Given the description of an element on the screen output the (x, y) to click on. 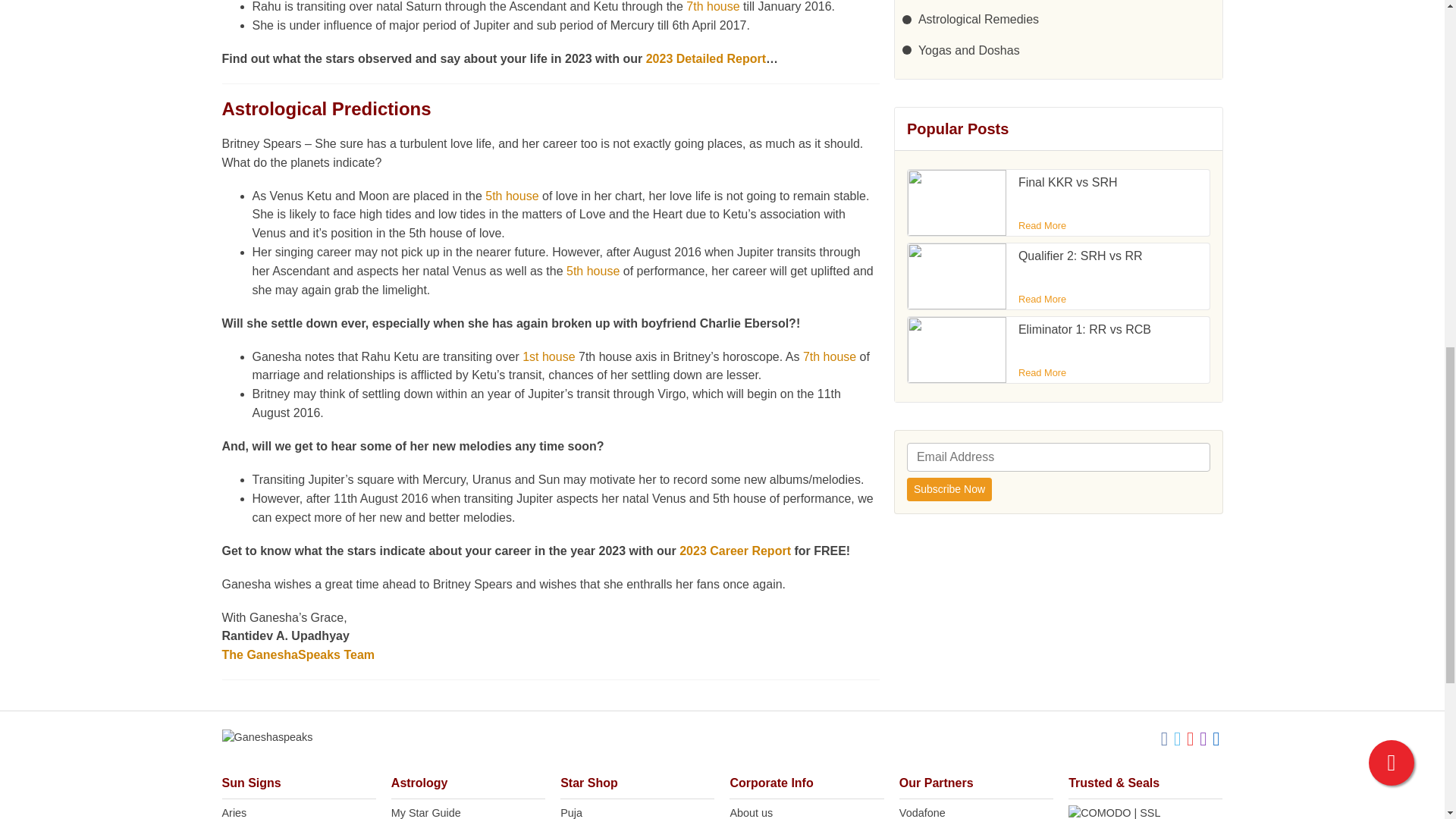
Aries (298, 812)
Ganeshaspeaks (267, 737)
